Given the description of an element on the screen output the (x, y) to click on. 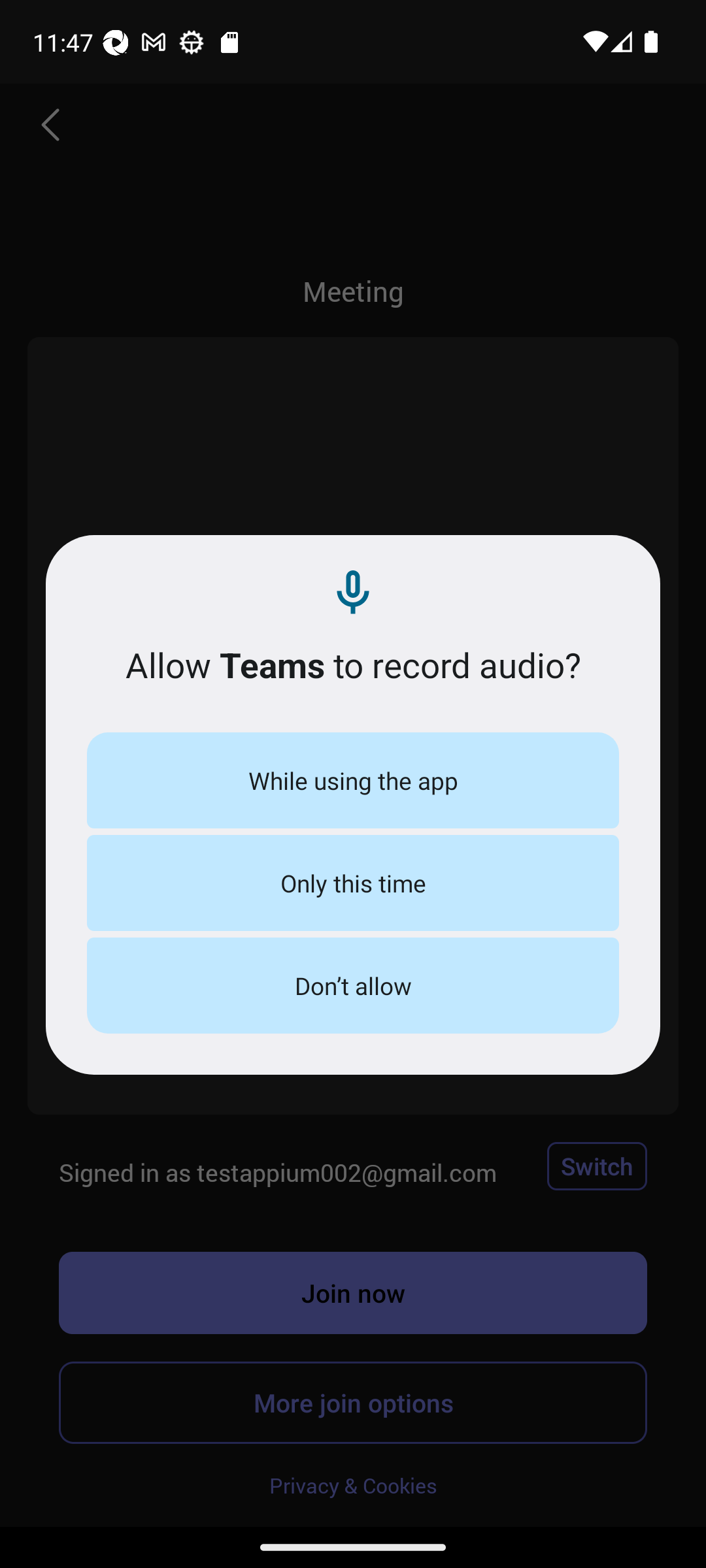
While using the app (352, 779)
Only this time (352, 882)
Don’t allow (352, 985)
